Given the description of an element on the screen output the (x, y) to click on. 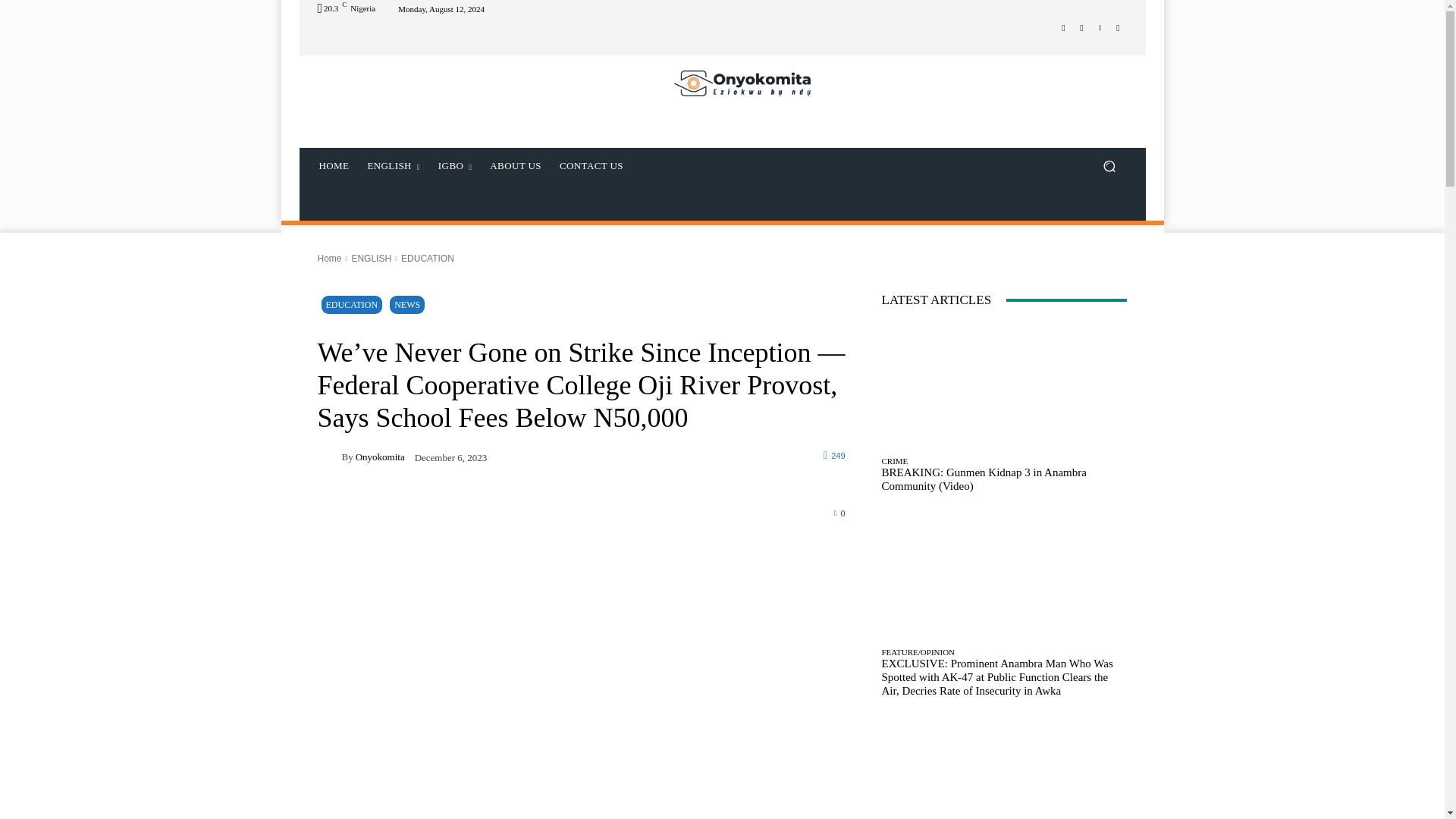
Instagram (1080, 27)
Twitter (1099, 27)
Facebook (1062, 27)
View all posts in ENGLISH (370, 258)
ENGLISH (393, 166)
onyokomita (328, 456)
HOME (333, 166)
Youtube (1117, 27)
View all posts in EDUCATION (427, 258)
